Given the description of an element on the screen output the (x, y) to click on. 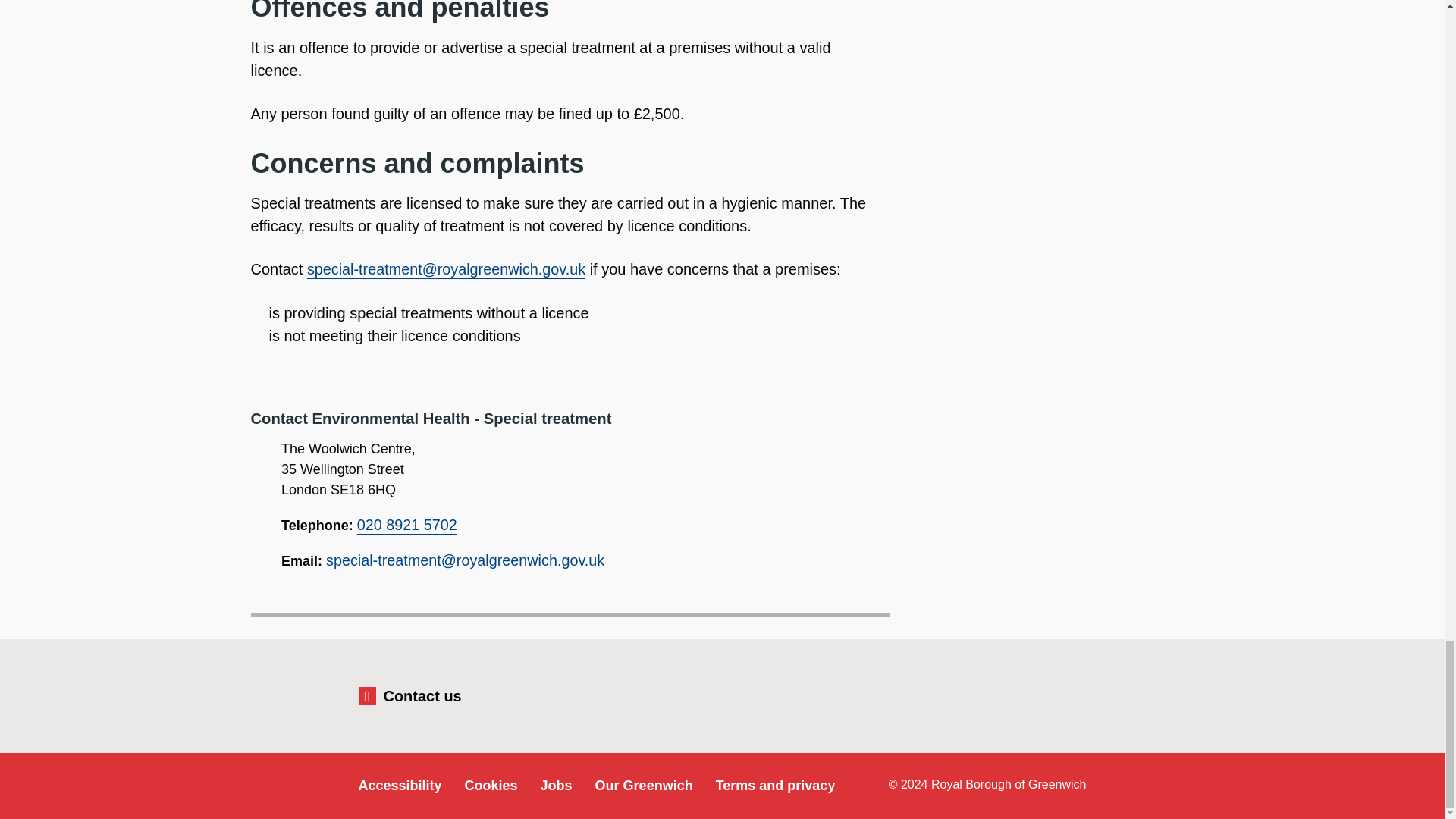
Royal Greenwich Instagram page. (1069, 692)
Royal Greenwich X page. (1018, 692)
Royal Greenwich Facebook page. (967, 692)
